Given the description of an element on the screen output the (x, y) to click on. 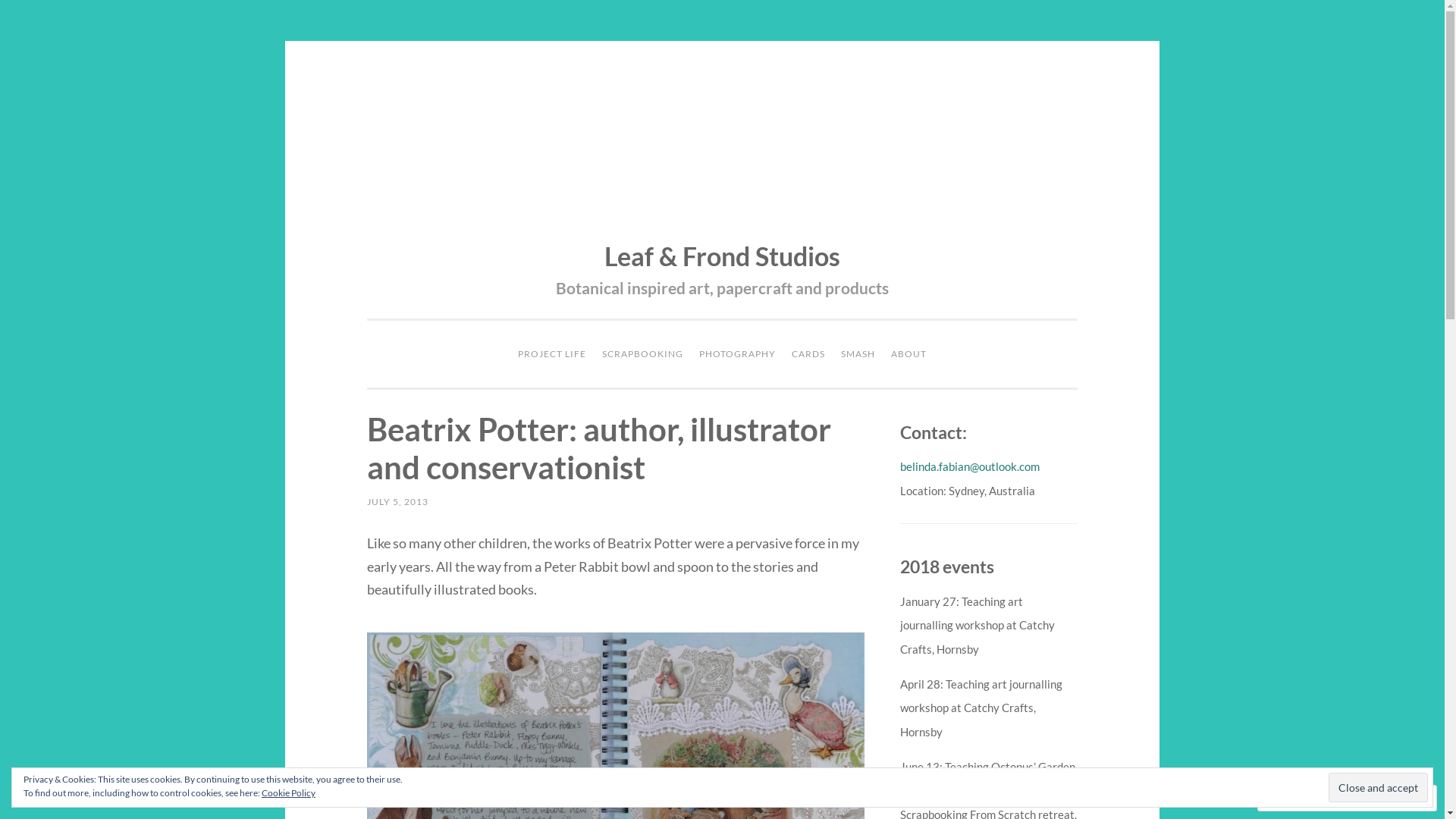
PHOTOGRAPHY Element type: text (737, 353)
JULY 5, 2013 Element type: text (397, 501)
PROJECT LIFE Element type: text (552, 353)
belinda.fabian@outlook.com Element type: text (969, 466)
CARDS Element type: text (807, 353)
SMASH Element type: text (857, 353)
Leaf & Frond Studios Element type: text (722, 256)
Follow Element type: text (1373, 797)
Comment Element type: text (1298, 797)
Cookie Policy Element type: text (288, 792)
SCRAPBOOKING Element type: text (642, 353)
Close and accept Element type: text (1377, 787)
ABOUT Element type: text (908, 353)
